Given the description of an element on the screen output the (x, y) to click on. 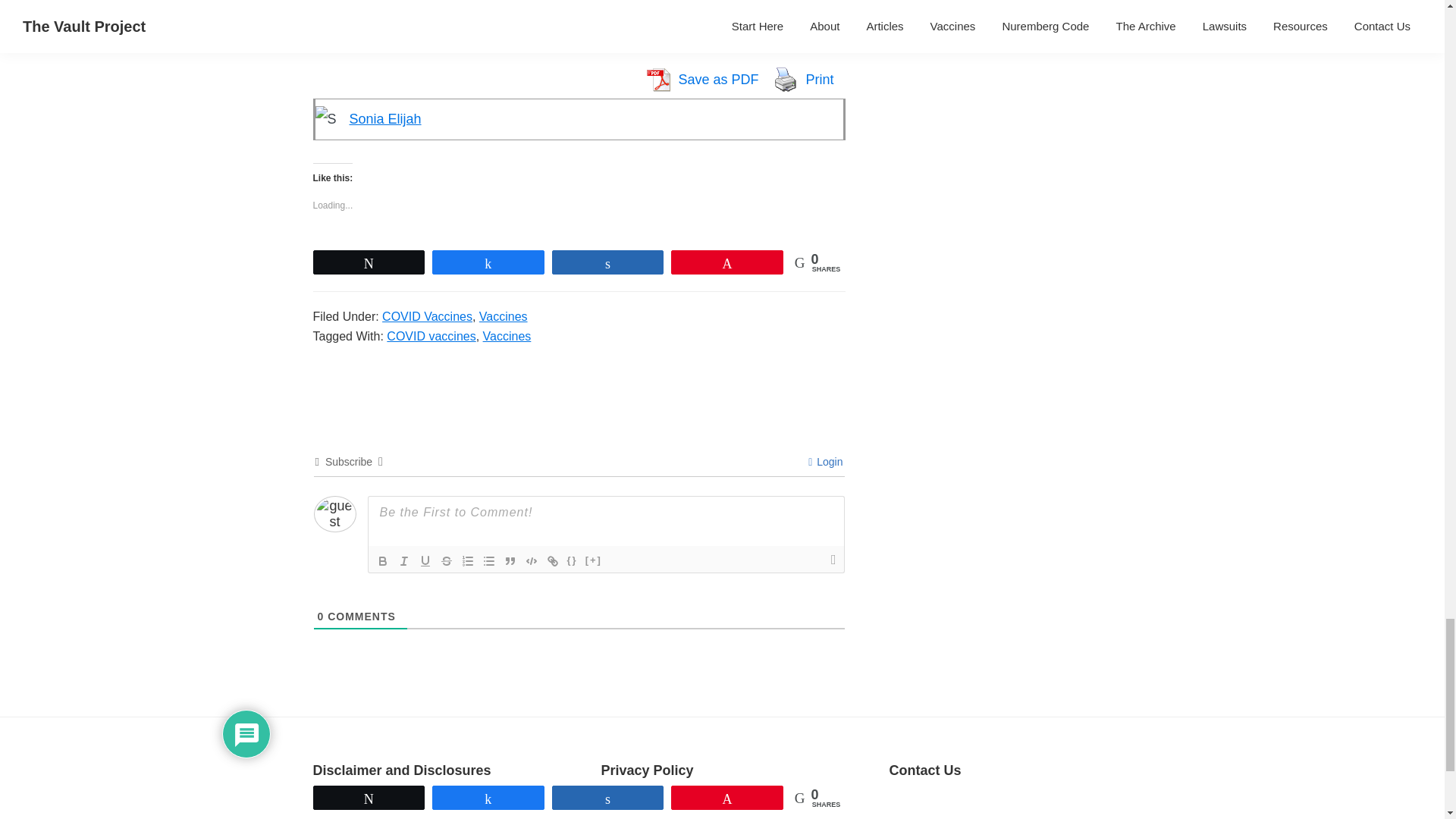
Source Code (571, 561)
Print Content (786, 79)
Download PDF (658, 79)
Underline (424, 561)
Code Block (530, 561)
Ordered List (467, 561)
Link (551, 561)
Sonia Elijah (384, 118)
Italic (403, 561)
Blockquote (509, 561)
